Given the description of an element on the screen output the (x, y) to click on. 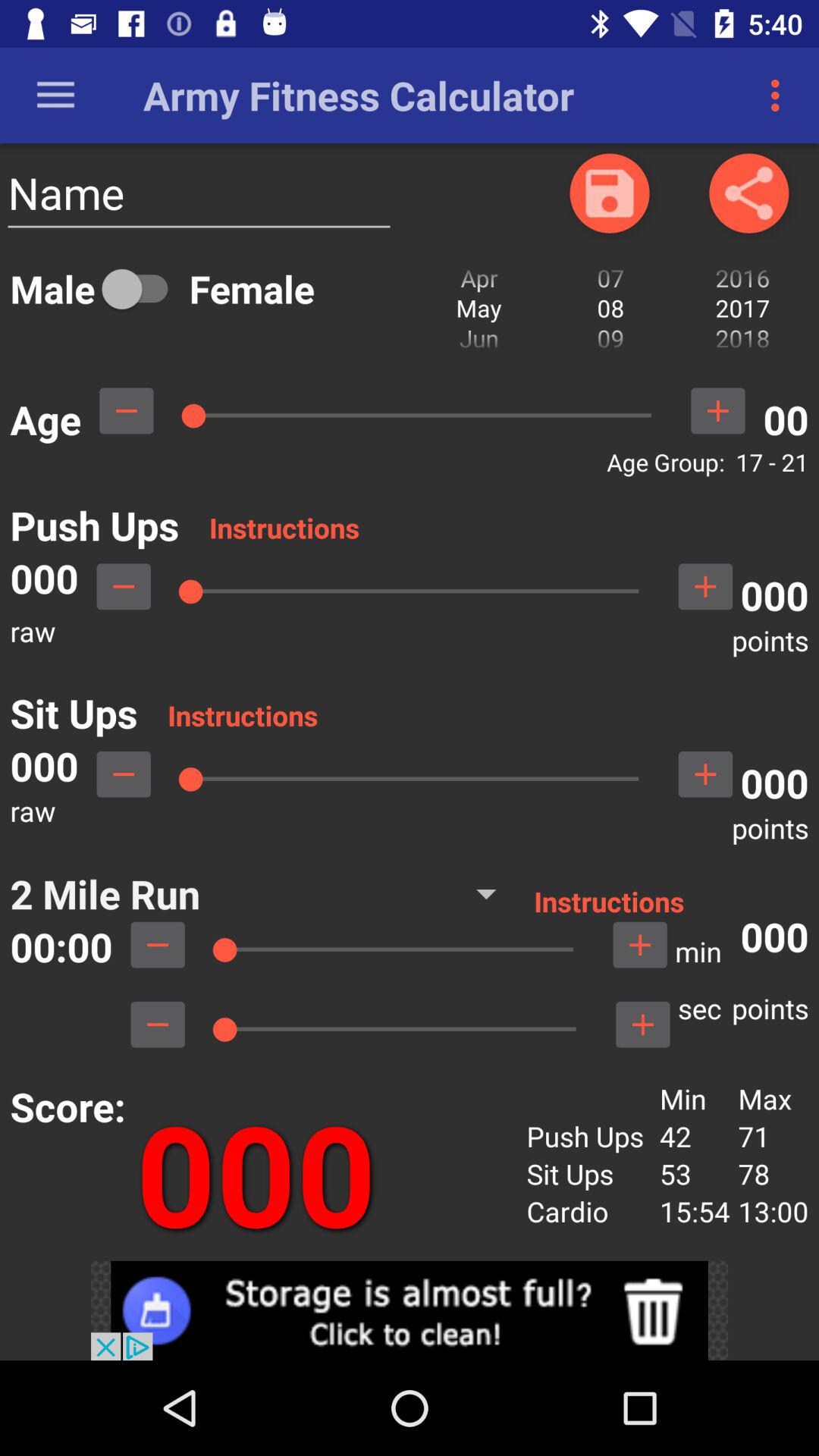
selct the button (705, 774)
